Given the description of an element on the screen output the (x, y) to click on. 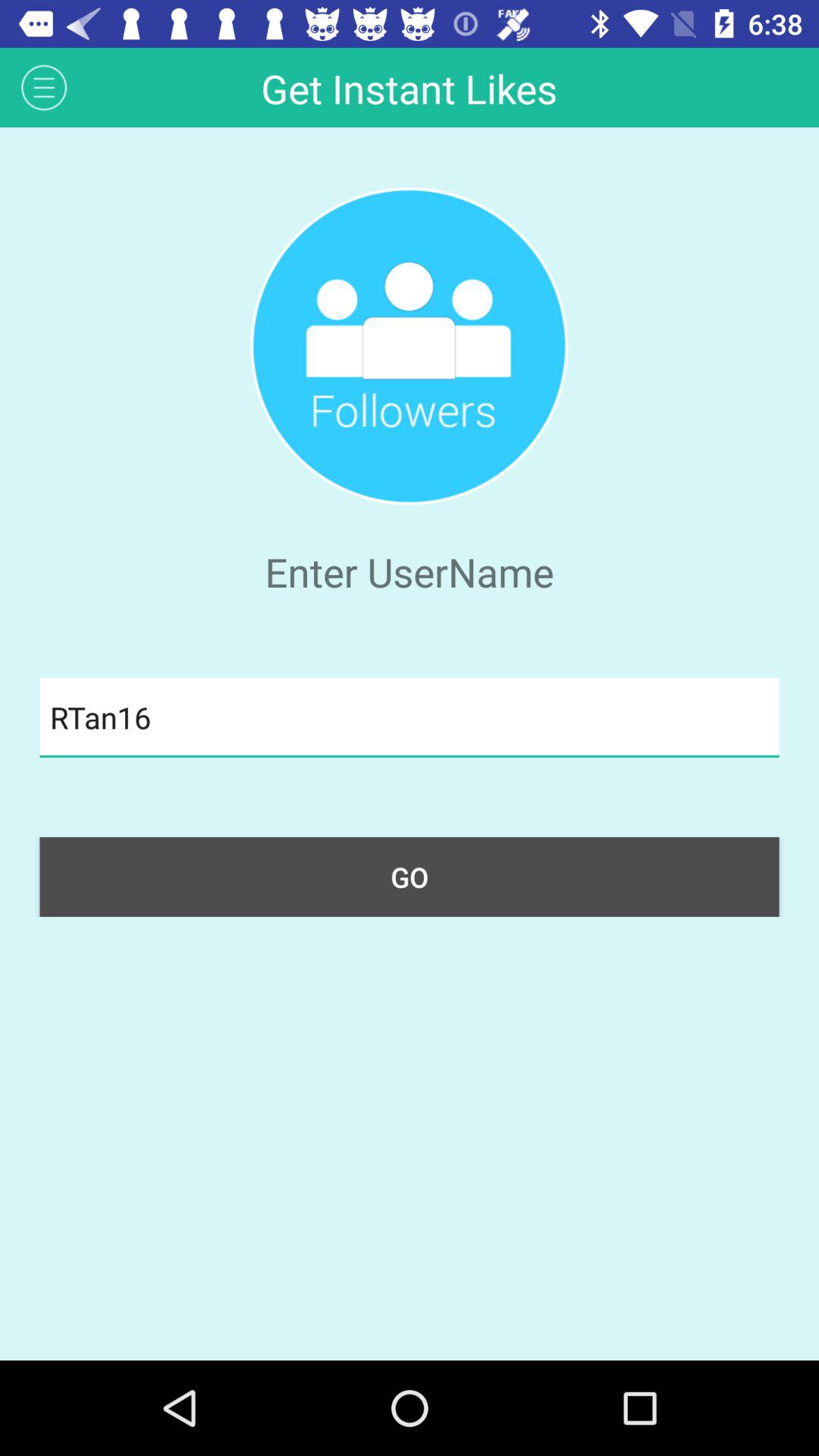
turn off icon to the left of the get instant likes icon (44, 87)
